Given the description of an element on the screen output the (x, y) to click on. 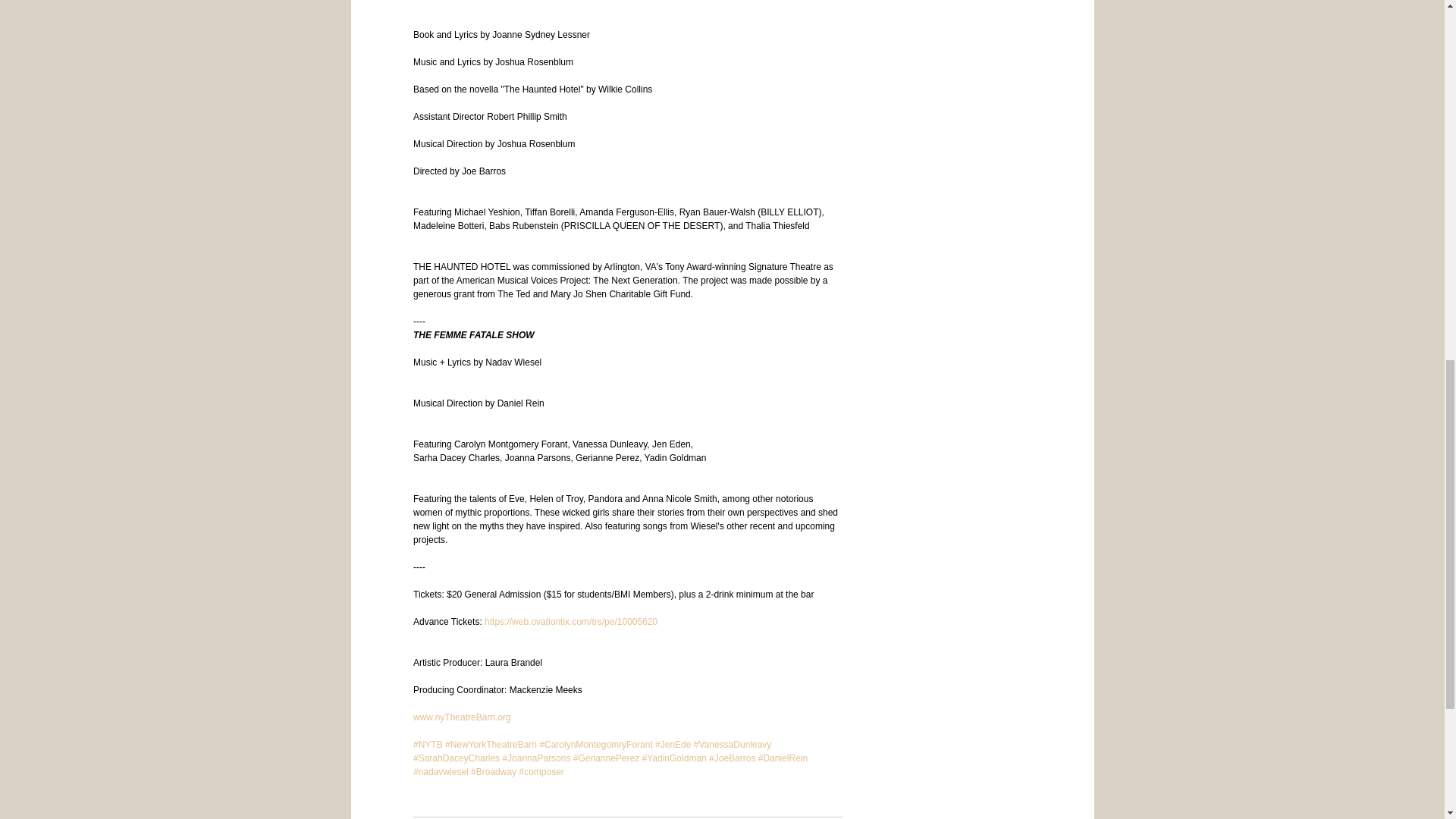
www.nyTheatreBarn.org (461, 716)
